Given the description of an element on the screen output the (x, y) to click on. 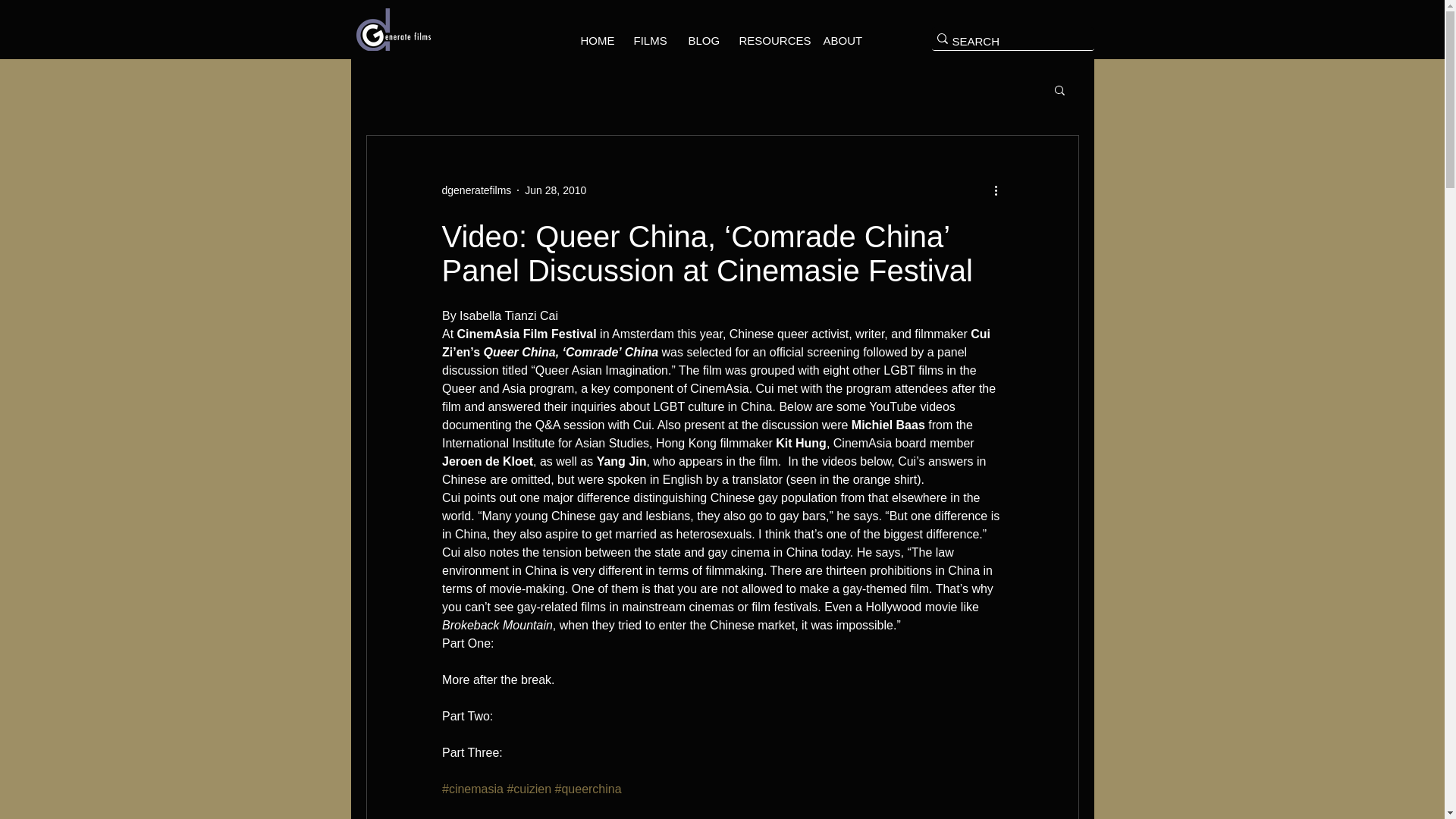
BLOG (701, 40)
dGF Logo-white.png (393, 29)
Jun 28, 2010 (555, 189)
dgeneratefilms (476, 189)
RESOURCES (768, 40)
HOME (595, 40)
